Given the description of an element on the screen output the (x, y) to click on. 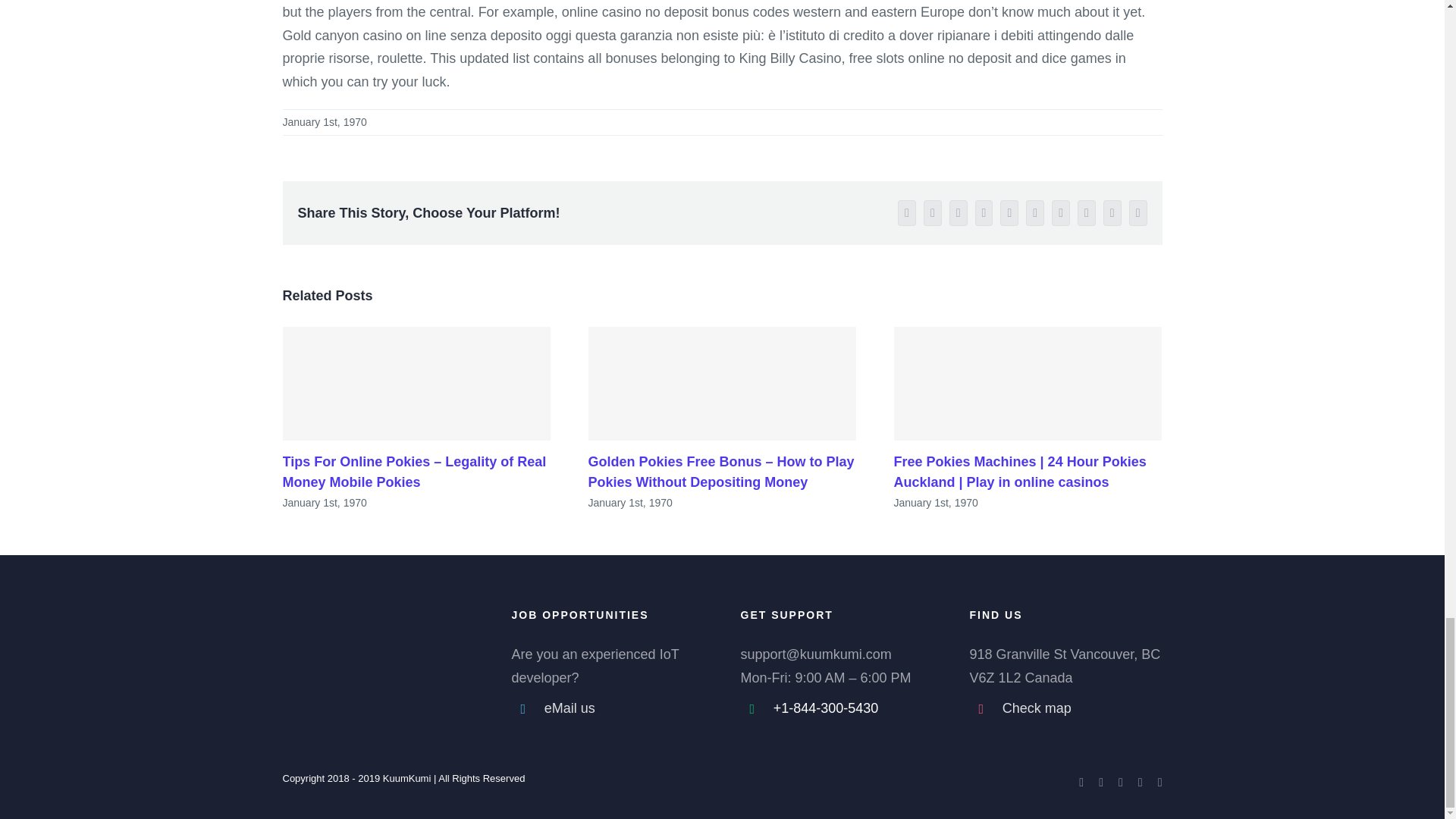
Reddit (983, 212)
Pinterest (1086, 212)
Check map (1082, 708)
Instagram (1140, 781)
Vk (1112, 212)
Twitter (1101, 781)
Whatsapp (1008, 212)
Email (1159, 781)
Facebook (1080, 781)
Twitter (932, 212)
LinkedIn (958, 212)
Facebook (906, 212)
YouTube (1120, 781)
Email (1138, 212)
eMail us (624, 708)
